Given the description of an element on the screen output the (x, y) to click on. 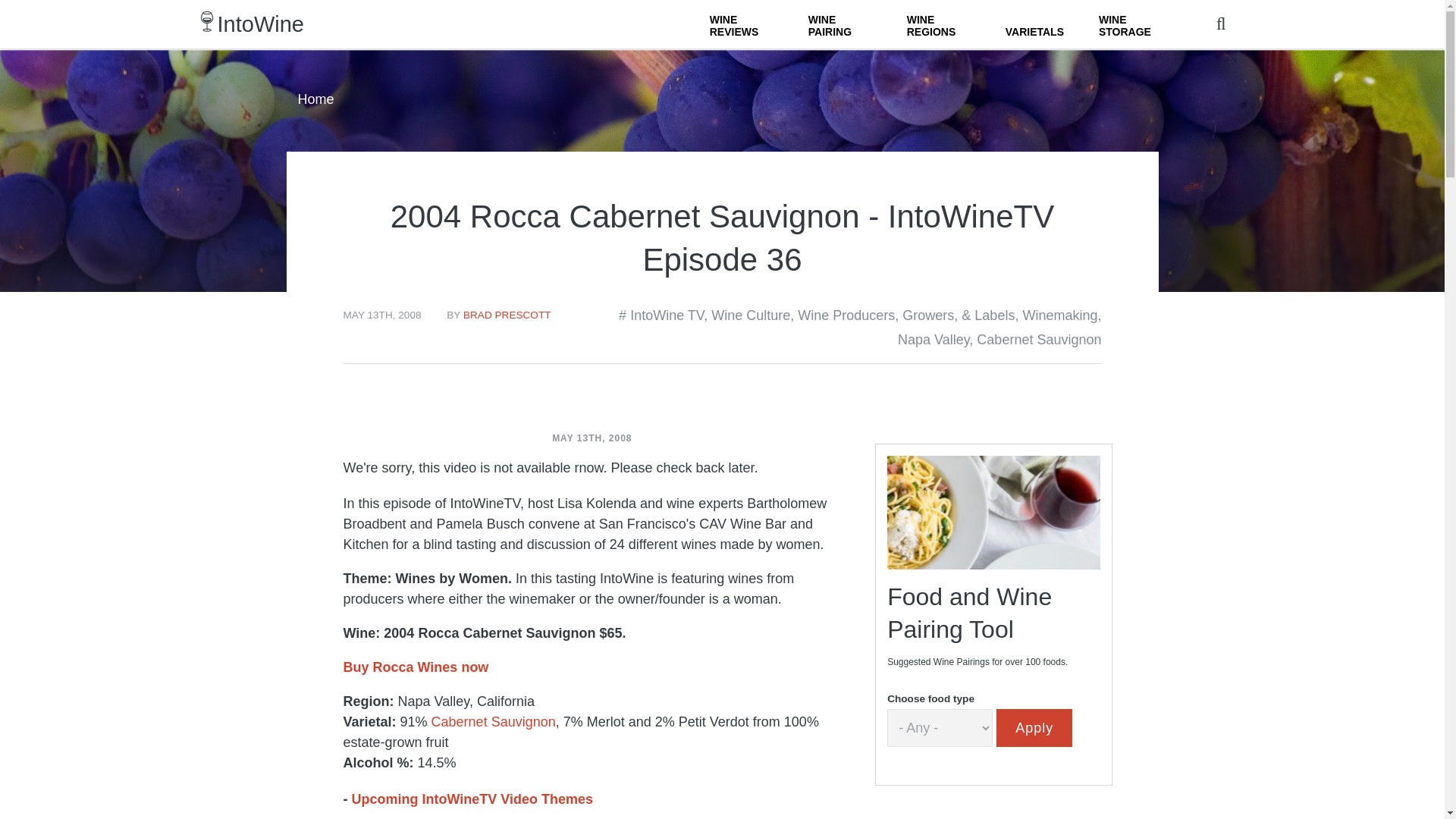
Upcoming IntoWineTV Video Themes (473, 798)
Apply (1033, 727)
Search (907, 51)
Home (260, 24)
View user profile. (507, 315)
Wine Culture (750, 314)
Napa Valley (933, 339)
WINE PAIRING (839, 24)
Wine Pairing (839, 24)
IntoWine (260, 24)
Wine Storage (1130, 24)
Winemaking (1059, 314)
Apply (1033, 727)
Buy Rocca Wines now (414, 667)
